Given the description of an element on the screen output the (x, y) to click on. 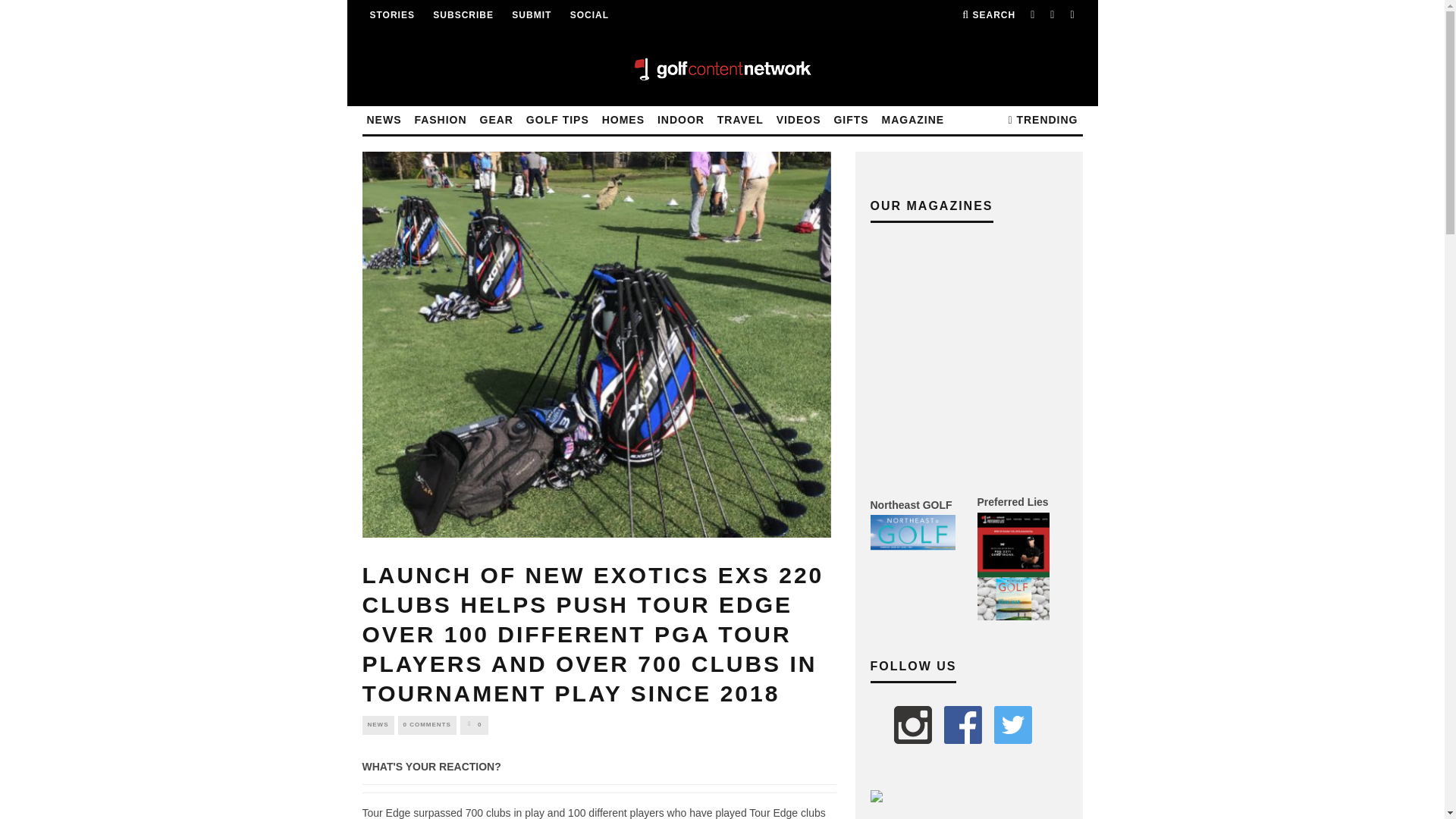
SEARCH (988, 15)
STORIES (391, 15)
View all posts in News (378, 724)
SOCIAL (589, 15)
SUBSCRIBE (462, 15)
Search (988, 15)
SUBMIT (531, 15)
